Given the description of an element on the screen output the (x, y) to click on. 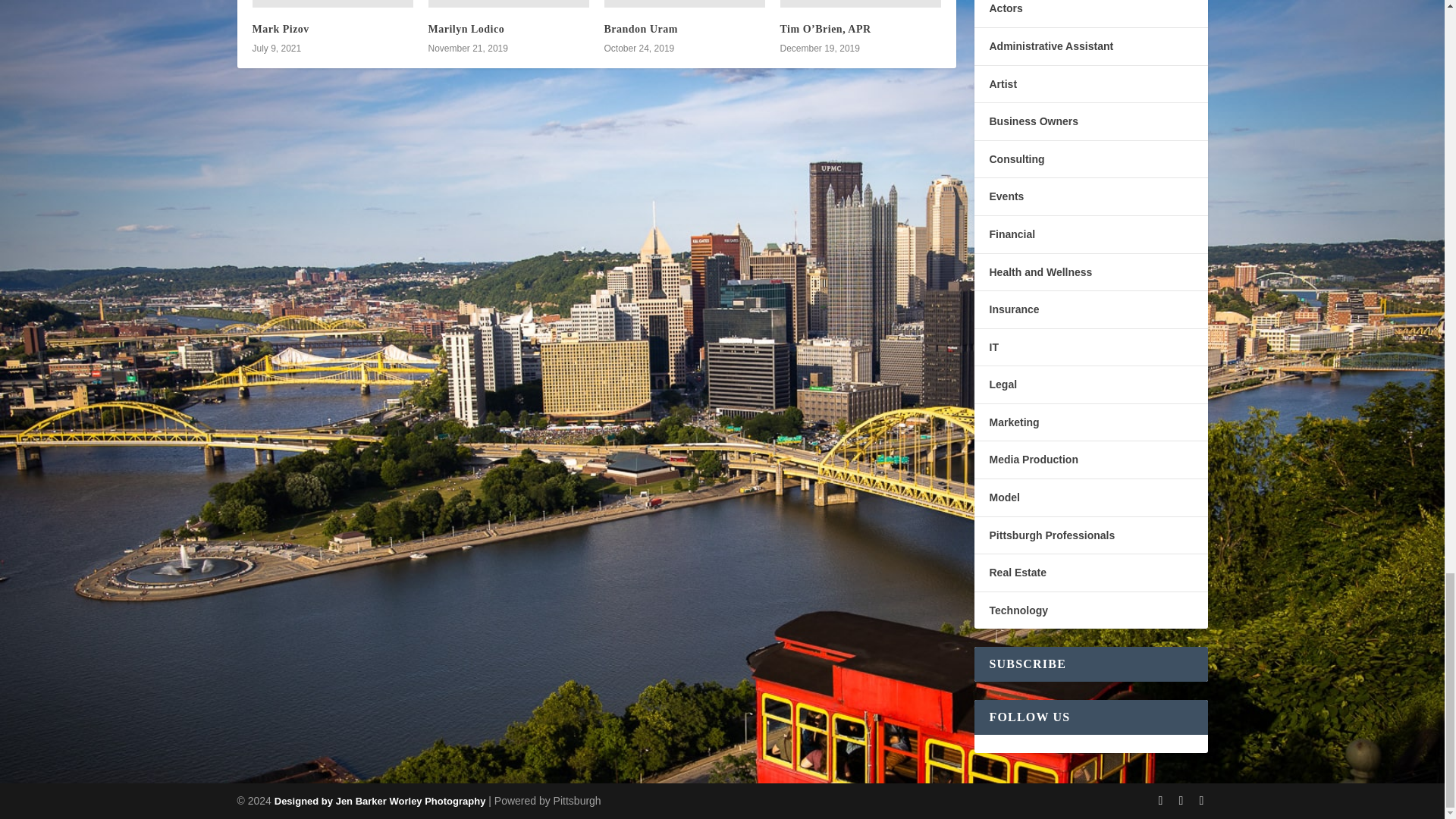
Mark Pizov (279, 29)
Marilyn Lodico (465, 29)
